Given the description of an element on the screen output the (x, y) to click on. 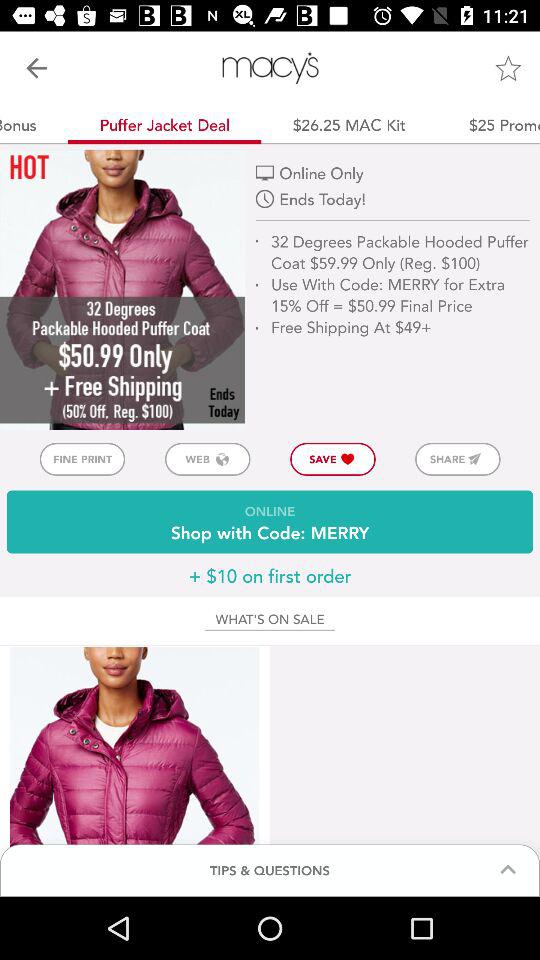
jump to the online shop with (269, 521)
